Given the description of an element on the screen output the (x, y) to click on. 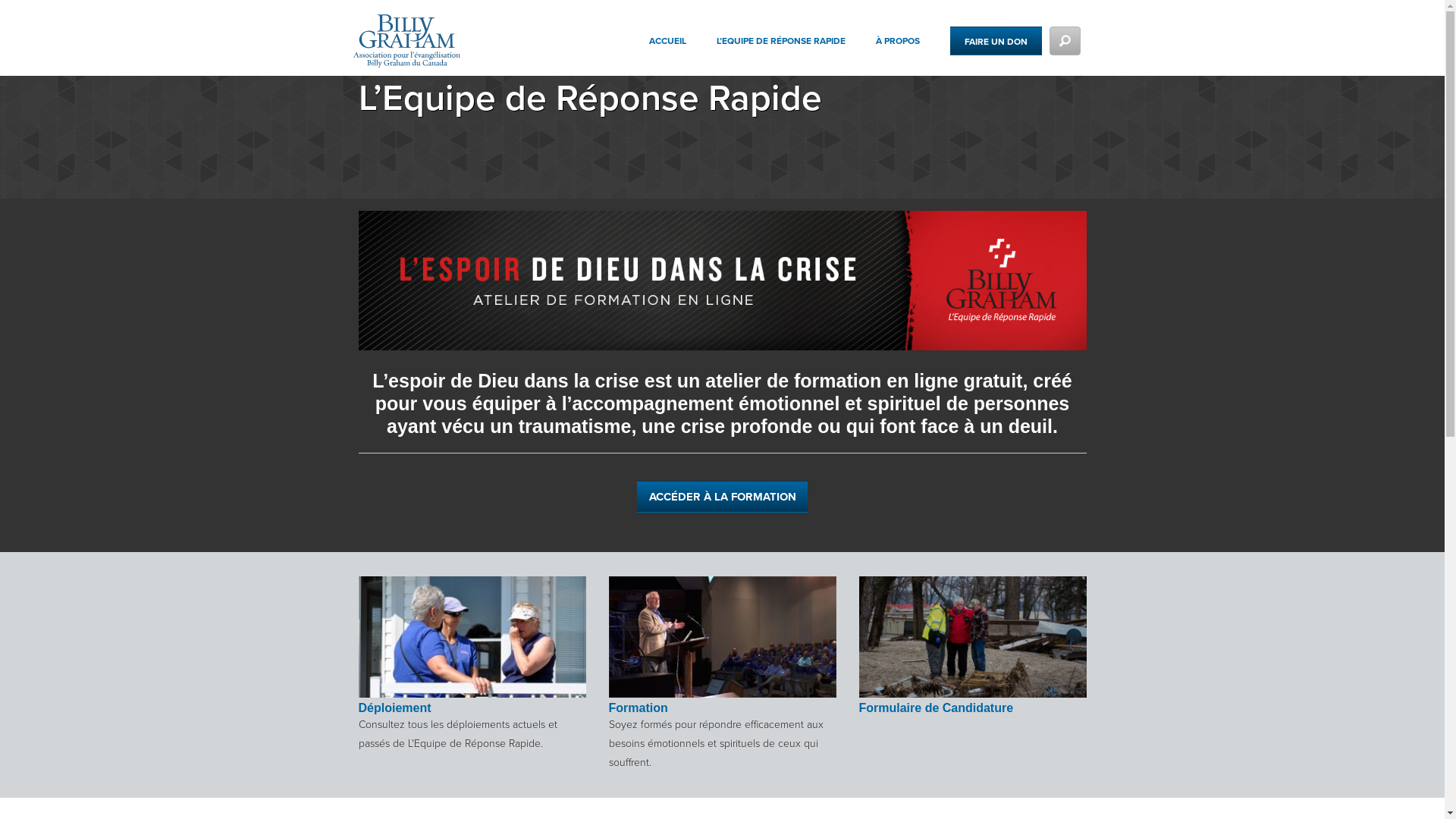
ACCUEIL Element type: text (682, 46)
FAIRE UN DON Element type: text (995, 40)
  Formulaire de Candidature Element type: text (972, 674)
Search Element type: text (1052, 108)
